Given the description of an element on the screen output the (x, y) to click on. 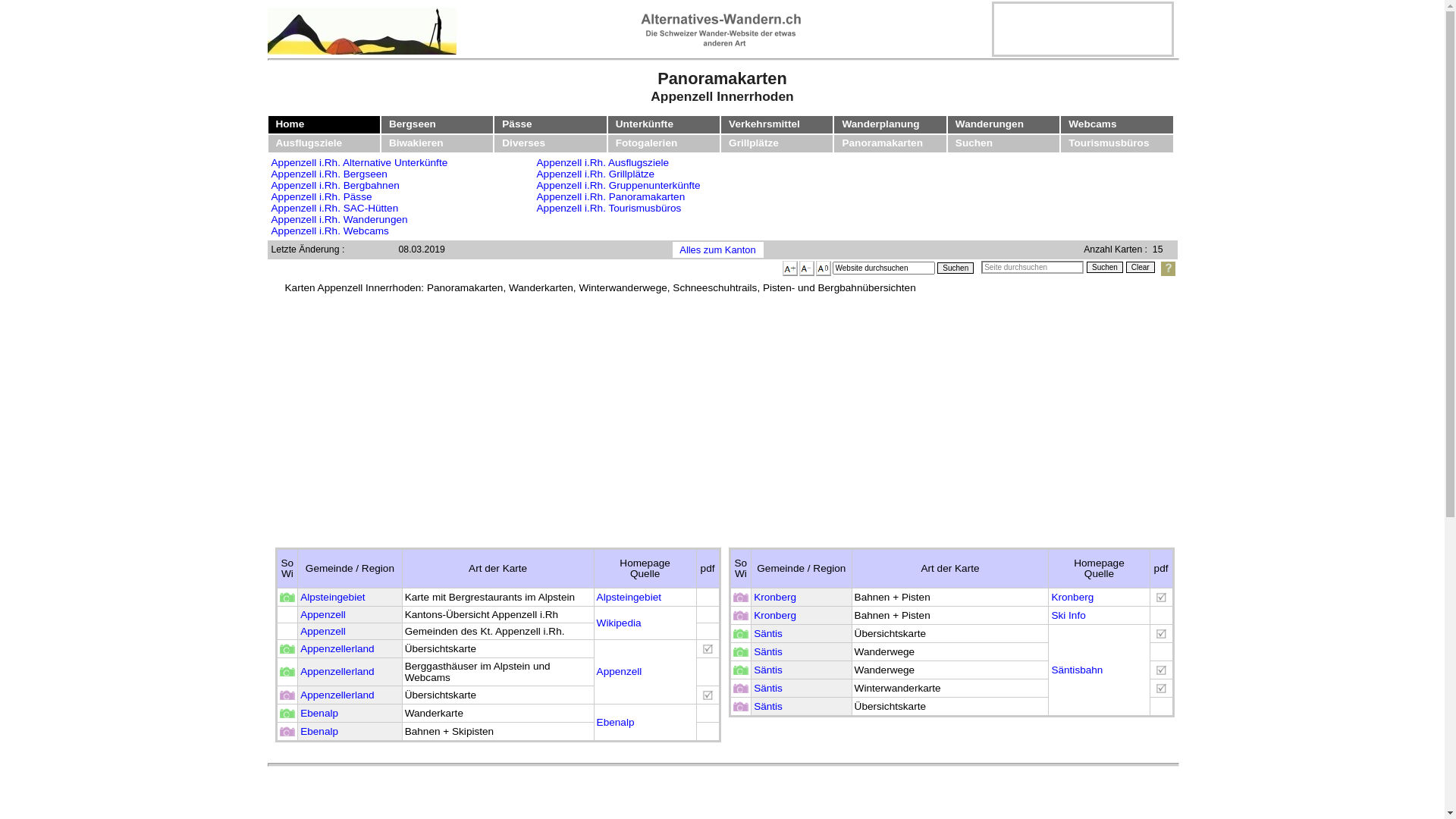
Fotogalerien Element type: text (646, 142)
Suchen Element type: text (955, 267)
Appenzell Element type: text (322, 631)
Appenzell i.Rh. Panoramakarten Element type: text (610, 196)
Panoramakarten Element type: text (881, 142)
Alpsteingebiet Element type: text (628, 596)
Wanderplanung Element type: text (880, 123)
Appenzell i.Rh. Webcams Element type: text (330, 230)
Suchen auf dieser Seite Element type: hover (1032, 266)
Home Element type: text (290, 123)
Biwakieren Element type: text (416, 142)
Suchen auf dieser Seite Element type: hover (1104, 267)
Wanderungen Element type: text (989, 123)
Appenzell i.Rh. Bergbahnen Element type: text (335, 185)
Wikipedia Element type: text (618, 622)
Appenzell Element type: text (619, 671)
Suchen Element type: text (1104, 267)
Advertisement Element type: hover (1081, 26)
Kronberg Element type: text (1072, 596)
Ebenalp Element type: text (615, 722)
Alles zum Kanton Element type: text (717, 249)
Appenzellerland Element type: text (337, 671)
Bergseen Element type: text (412, 123)
Diverses Element type: text (523, 142)
Ski Info Element type: text (1068, 615)
Appenzell Element type: text (322, 614)
Kronberg Element type: text (774, 615)
Advertisement Element type: hover (759, 422)
Webcams Element type: text (1092, 123)
Appenzell i.Rh. Bergseen Element type: text (329, 173)
Appenzellerland Element type: text (337, 694)
Kronberg Element type: text (774, 596)
Ebenalp Element type: text (319, 731)
Appenzell i.Rh. Wanderungen Element type: text (339, 219)
Ebenalp Element type: text (319, 712)
Suchen Website Element type: hover (955, 267)
Clear Element type: text (1140, 267)
Suchen Element type: text (973, 142)
Verkehrsmittel Element type: text (764, 123)
Ausflugsziele Element type: text (309, 142)
Appenzell i.Rh. Ausflugsziele Element type: text (602, 162)
Alpsteingebiet Element type: text (332, 596)
Appenzellerland Element type: text (337, 648)
Hilfe Element type: hover (1167, 268)
